Given the description of an element on the screen output the (x, y) to click on. 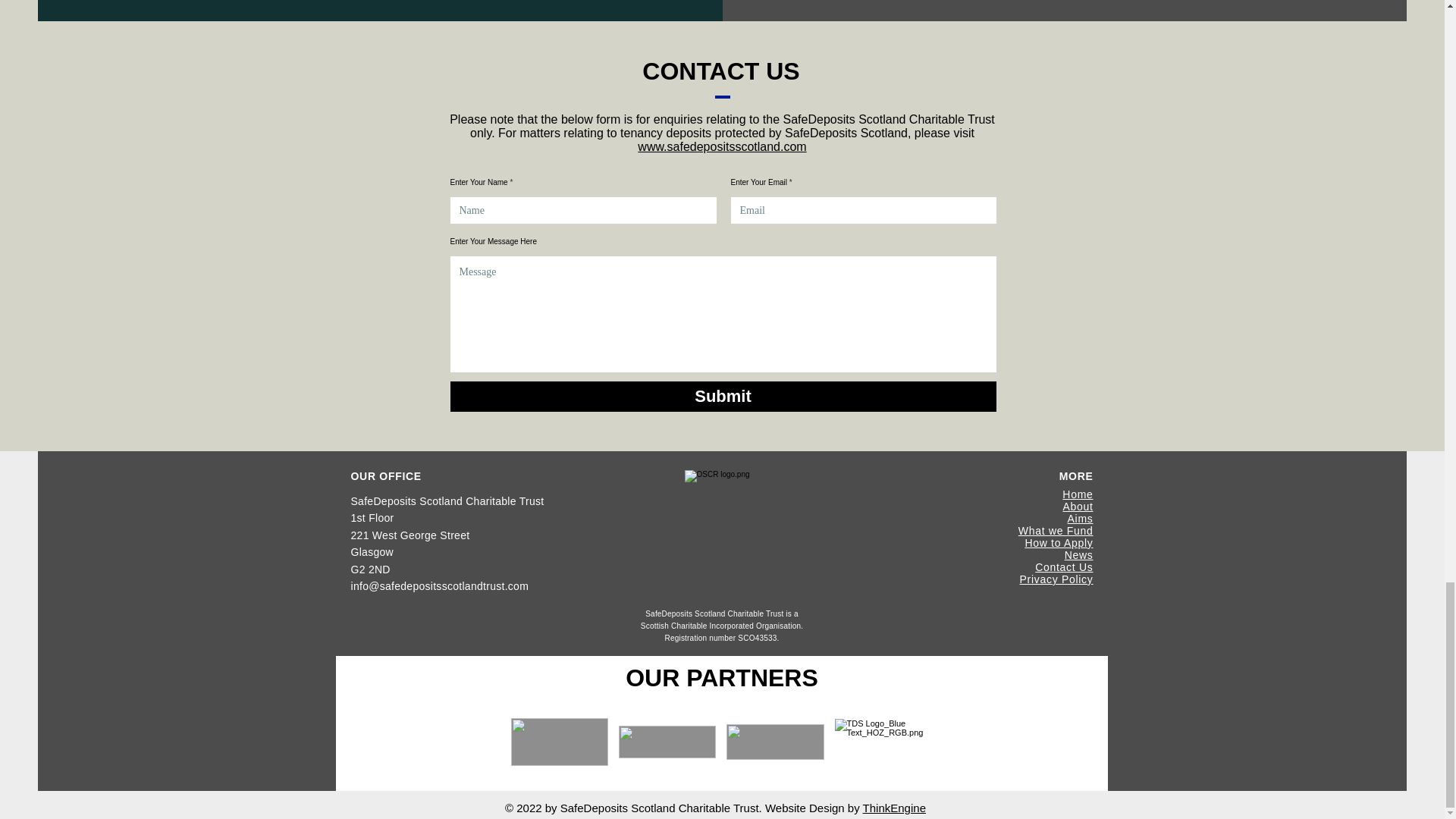
About (1077, 506)
Home (1077, 494)
What we Fund (1055, 530)
Aims (1080, 518)
Submit (722, 396)
How to Apply (1059, 542)
www.safedepositsscotland.com (721, 146)
